Given the description of an element on the screen output the (x, y) to click on. 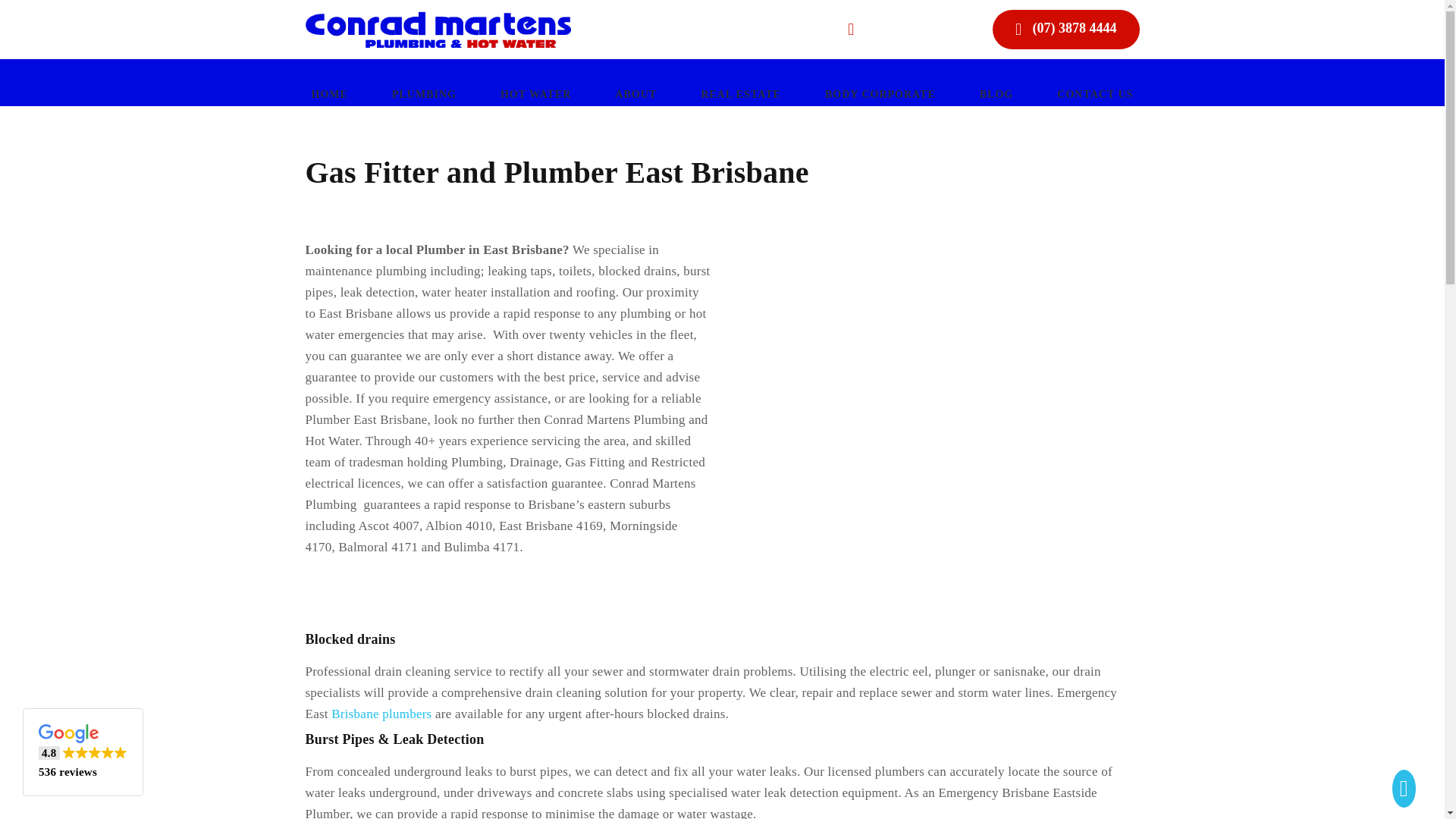
Servicing Brisbane (906, 29)
REAL ESTATE (740, 93)
PLUMBING (424, 93)
BLOG (996, 93)
HOME (329, 93)
HOT WATER (535, 93)
ABOUT (635, 93)
CONTACT US (1094, 93)
BODY CORPORATE (880, 93)
Brisbane plumbers (380, 713)
